Given the description of an element on the screen output the (x, y) to click on. 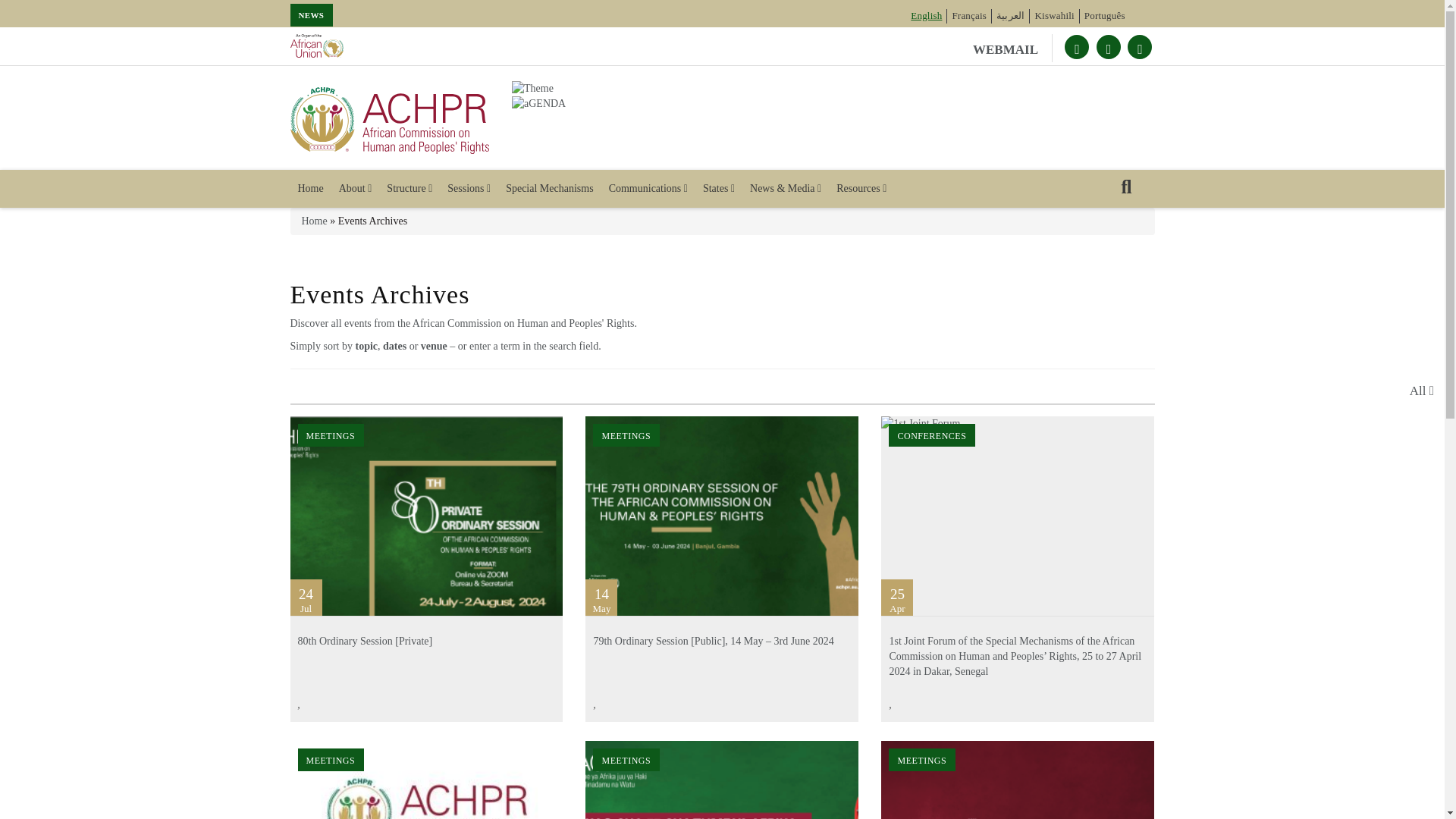
flickr (1138, 46)
Youtube (1108, 46)
Home (389, 119)
Kiswahili (1053, 15)
About (355, 188)
WEBMAIL (1012, 48)
Home (309, 188)
English (926, 15)
Twitter (1076, 46)
